Given the description of an element on the screen output the (x, y) to click on. 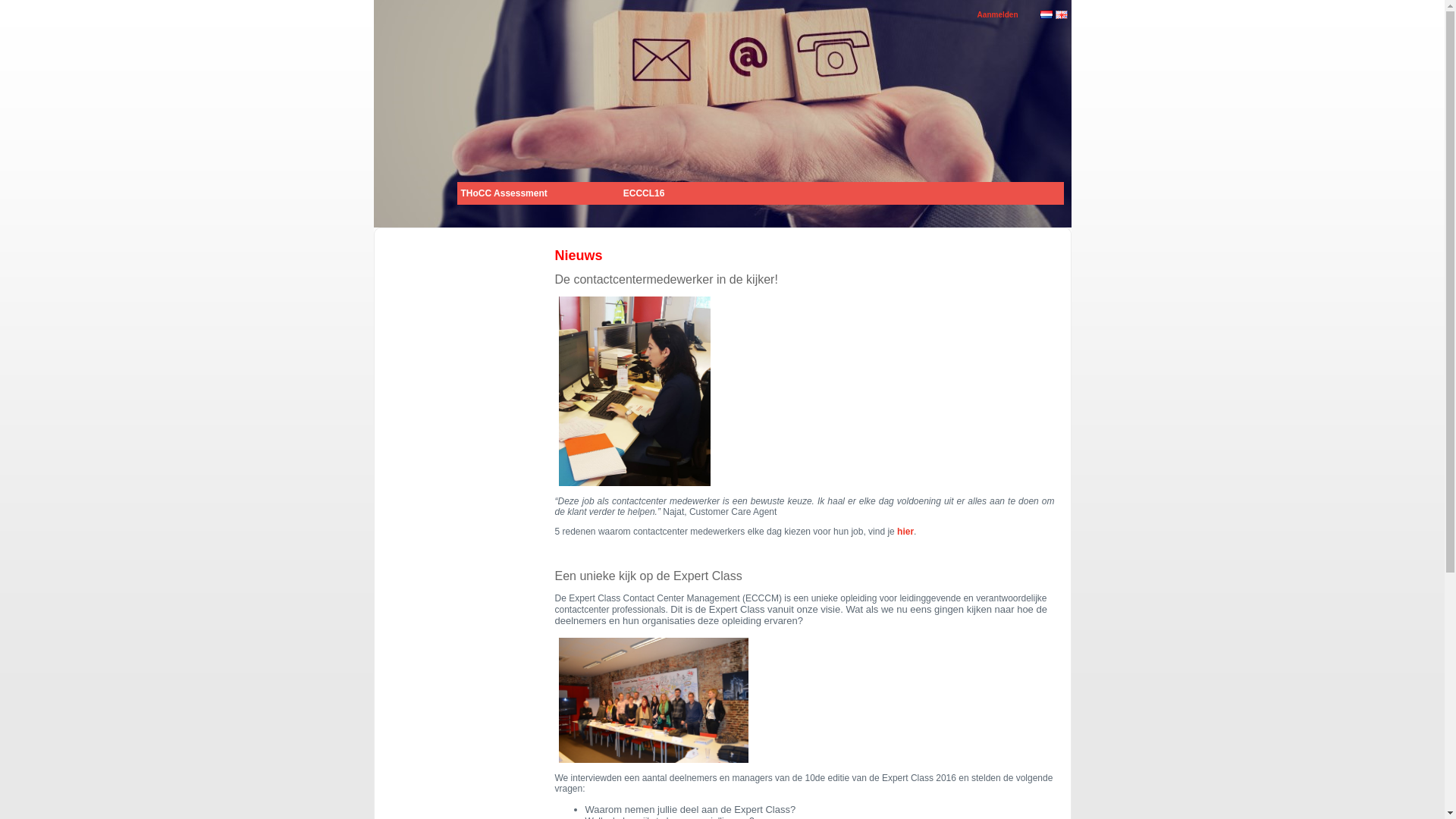
Aanmelden Element type: text (997, 14)
hier Element type: text (905, 531)
THoCC Assessment Element type: text (503, 193)
ECCCL16 Element type: text (643, 193)
